Given the description of an element on the screen output the (x, y) to click on. 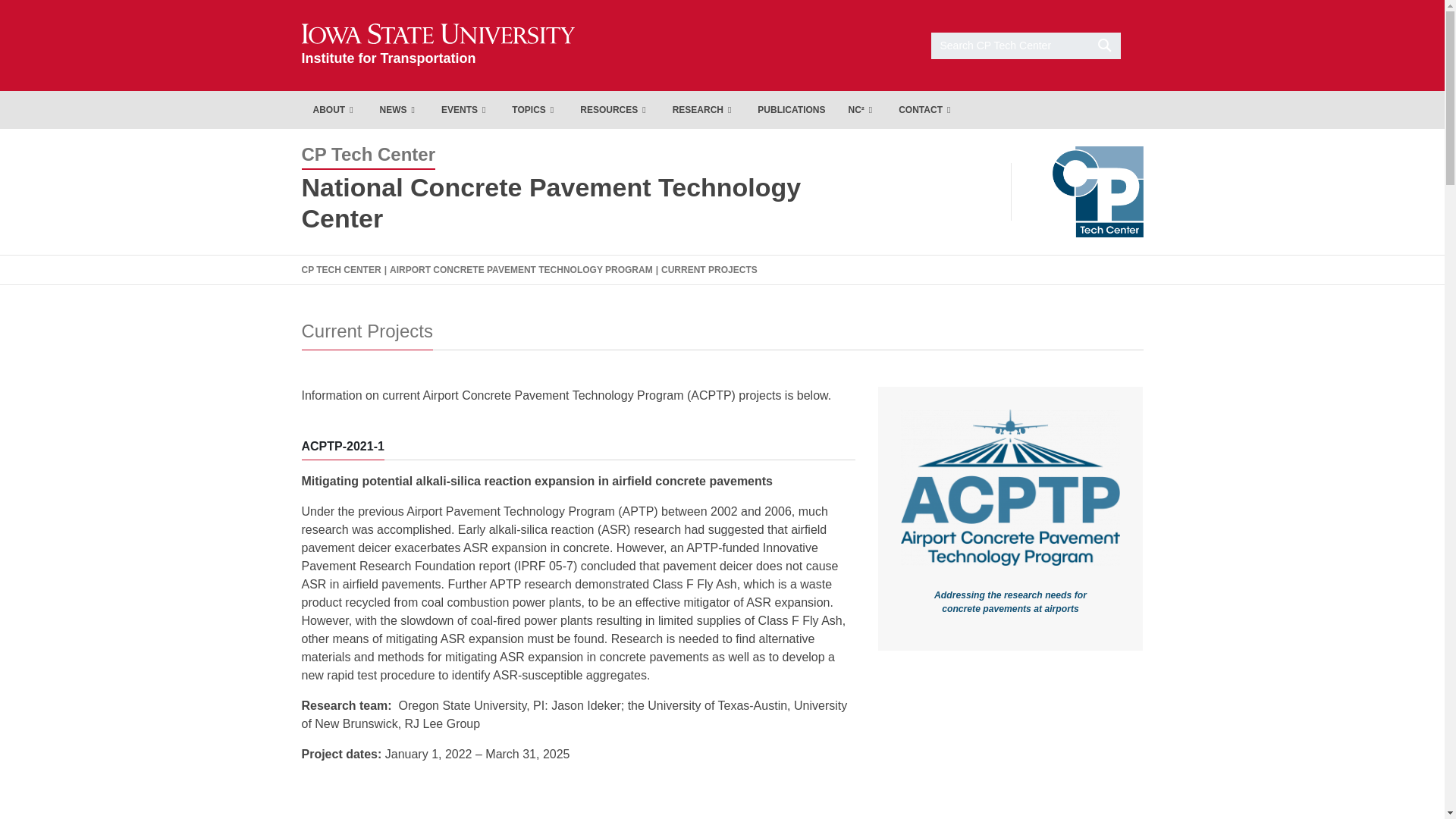
Home (438, 44)
NEWS (398, 109)
Search (1026, 44)
TOPICS (534, 109)
ABOUT (334, 109)
RESOURCES (615, 109)
EVENTS (464, 109)
